Given the description of an element on the screen output the (x, y) to click on. 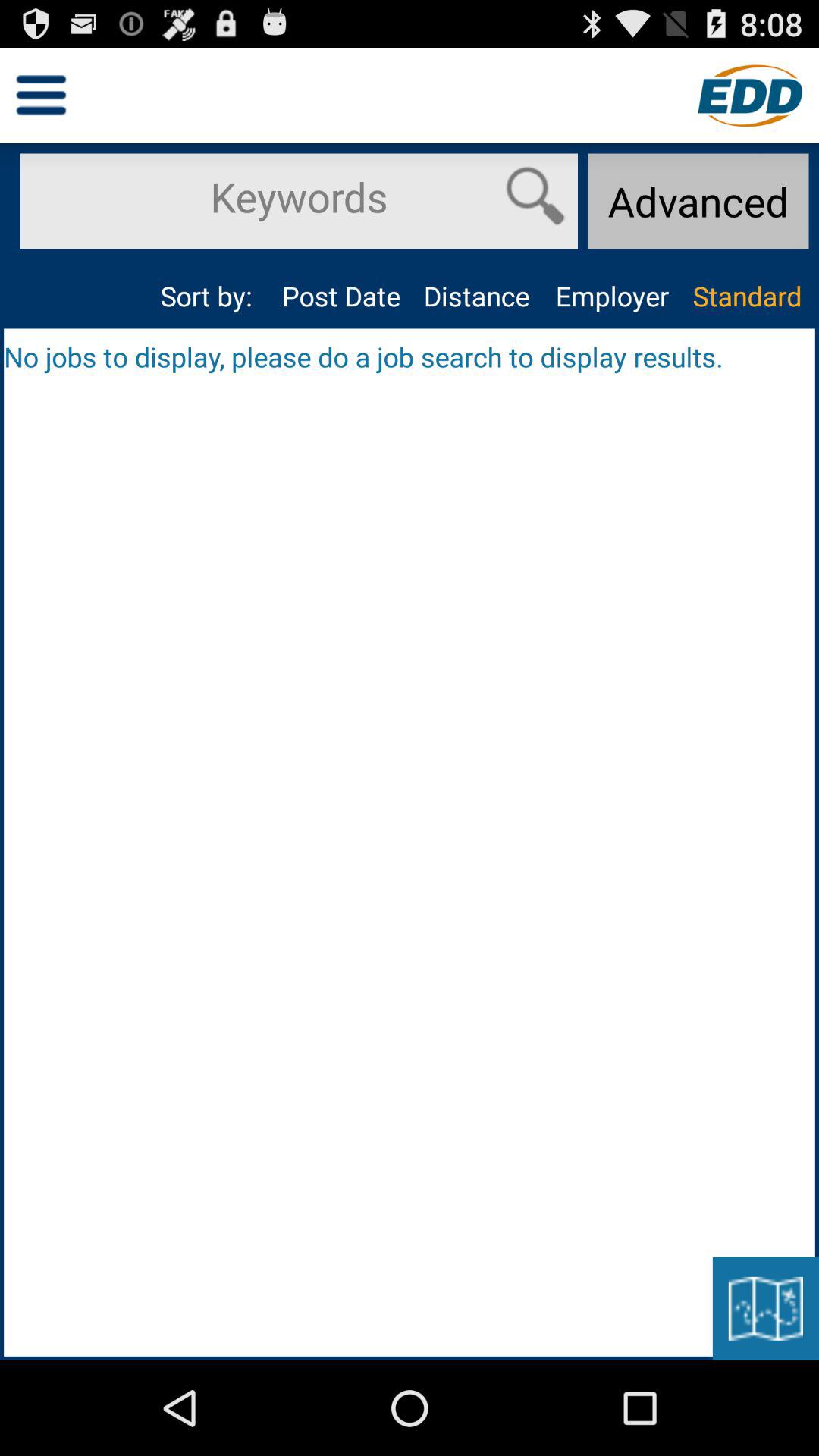
select app to the left of the employer app (476, 295)
